Given the description of an element on the screen output the (x, y) to click on. 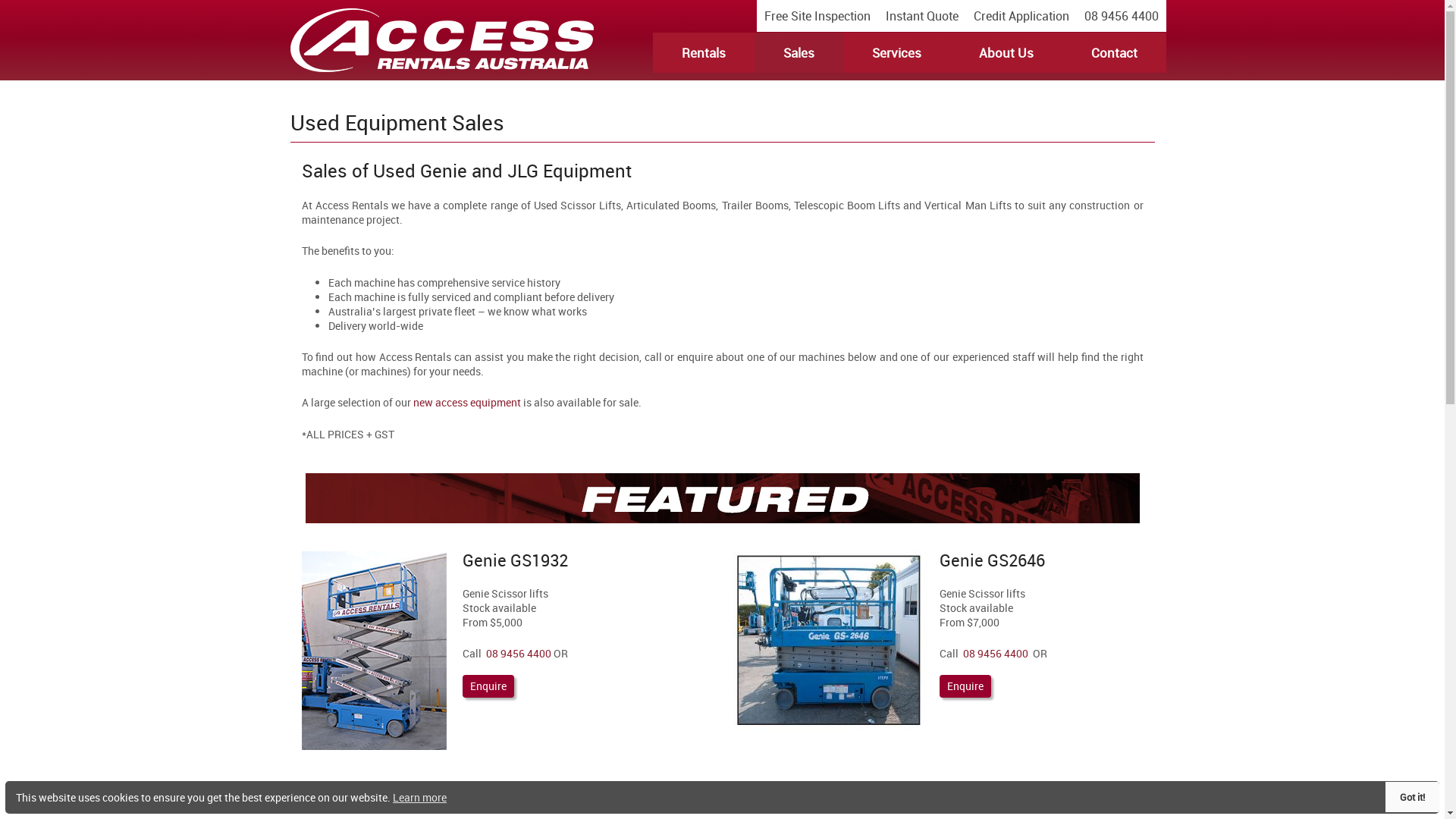
Services Element type: text (896, 52)
Credit Application Element type: text (1021, 15)
new access equipment Element type: text (466, 402)
08 9456 4400 Element type: text (995, 653)
About Us Element type: text (1005, 52)
08 9456 4400 Element type: text (1121, 15)
Free Site Inspection Element type: text (817, 15)
08 9456 4400 Element type: text (517, 653)
Sales Element type: text (797, 52)
Rentals Element type: text (702, 52)
Contact Element type: text (1113, 52)
Enquire Element type: text (488, 685)
Learn more Element type: text (419, 797)
Enquire Element type: text (964, 685)
Instant Quote Element type: text (922, 15)
Got it! Element type: text (1412, 796)
